Given the description of an element on the screen output the (x, y) to click on. 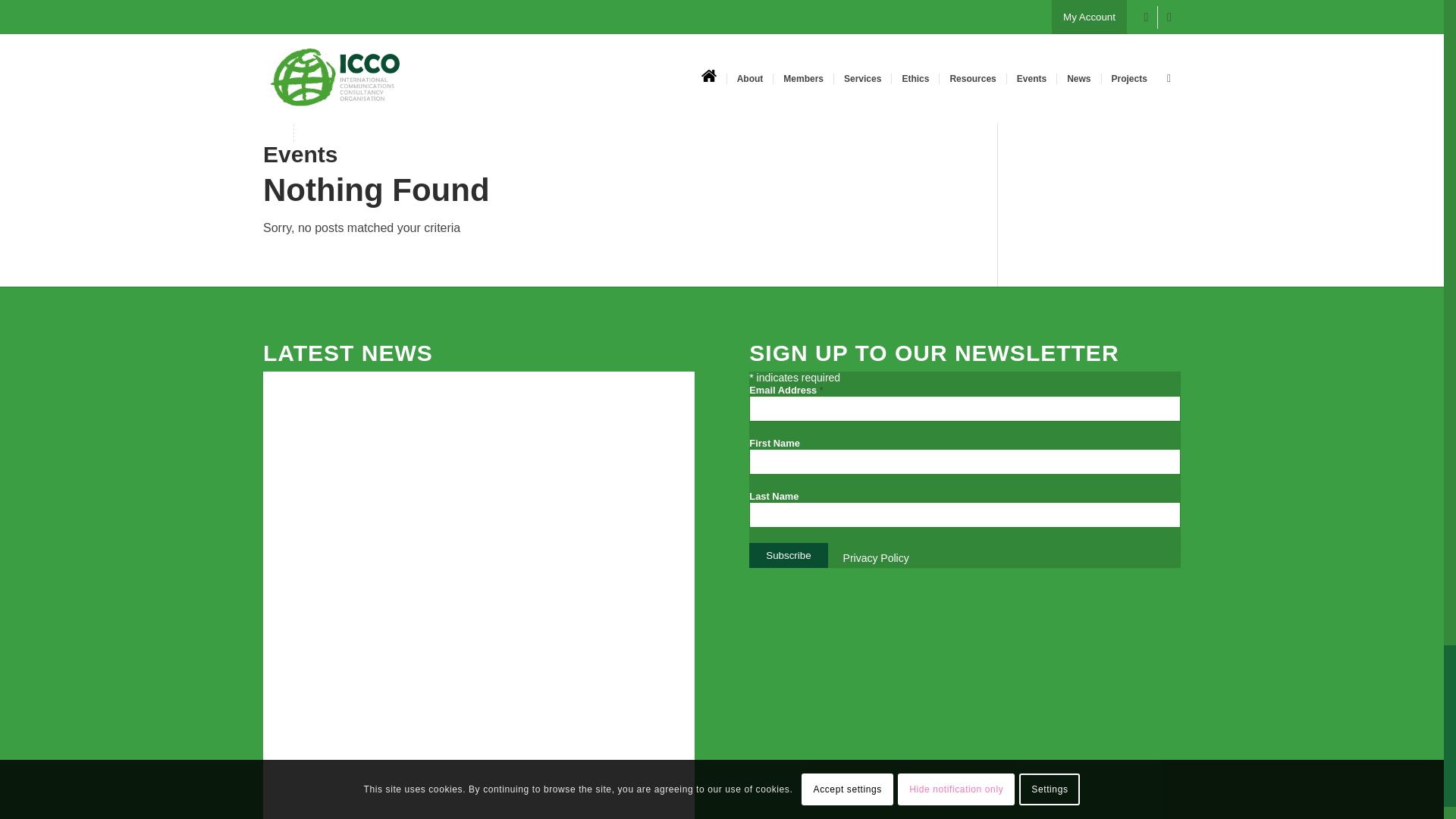
Subscribe (788, 555)
